Given the description of an element on the screen output the (x, y) to click on. 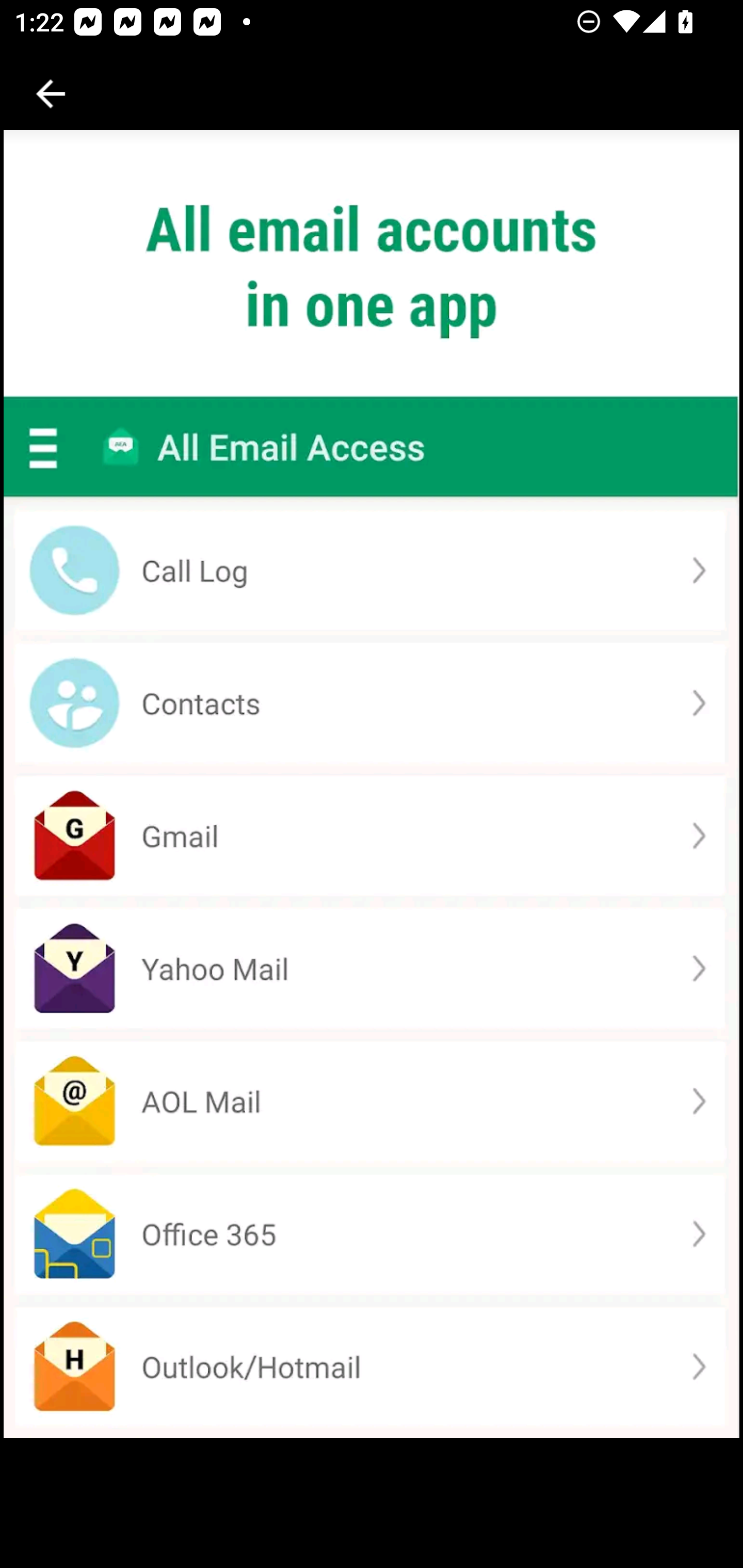
Back (50, 93)
